Given the description of an element on the screen output the (x, y) to click on. 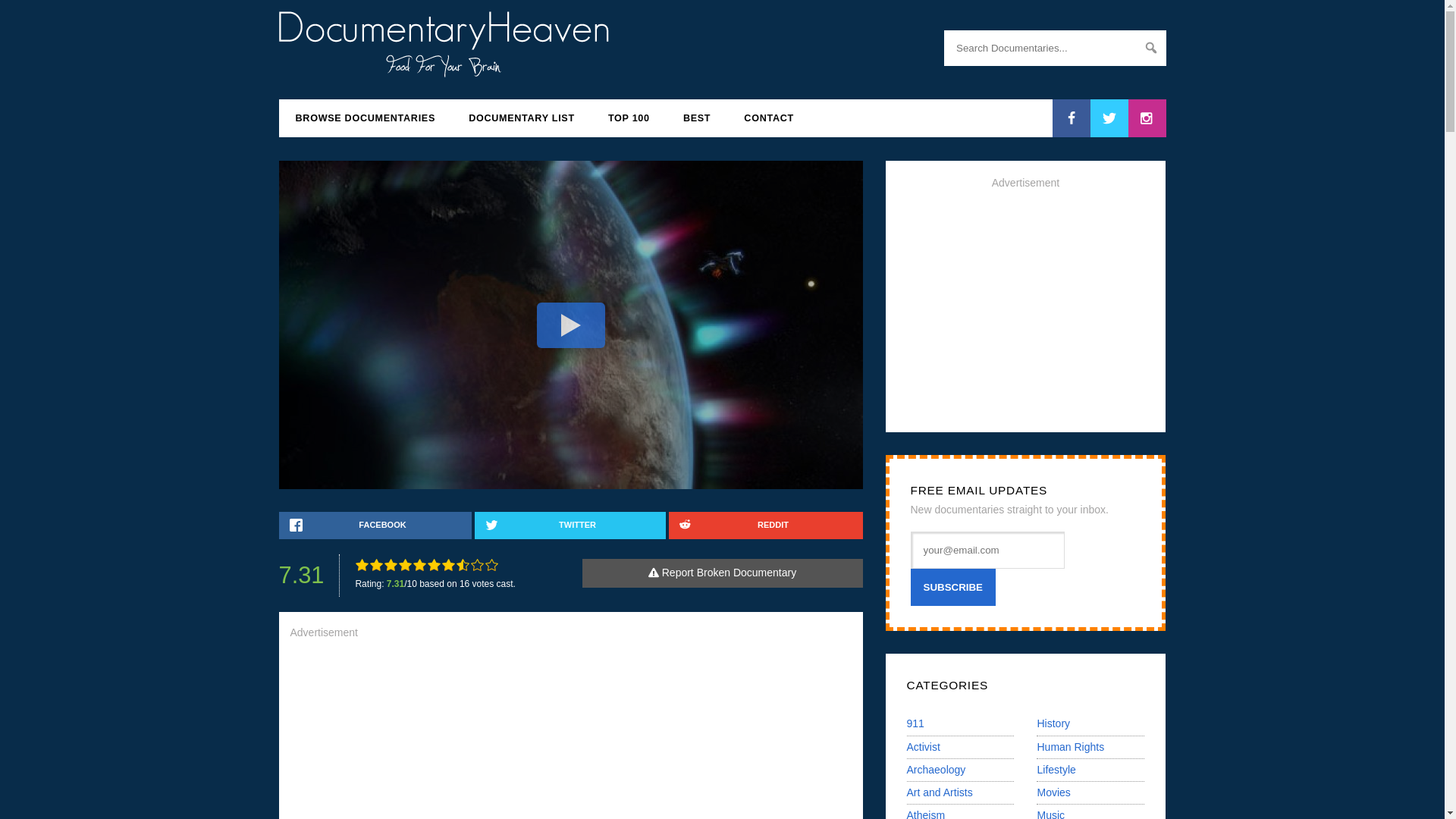
BROWSE DOCUMENTARIES (365, 118)
6 Stars (434, 564)
3 Stars (390, 564)
10 Stars (490, 564)
1 Star (361, 564)
TWITTER (569, 524)
DOCUMENTARY LIST (521, 118)
Advertisement (569, 736)
Documentary Heaven (443, 67)
4 Stars (405, 564)
CONTACT (768, 118)
Report Broken Documentary (722, 572)
5 Stars (419, 564)
8 Stars (462, 564)
FACEBOOK (375, 524)
